Given the description of an element on the screen output the (x, y) to click on. 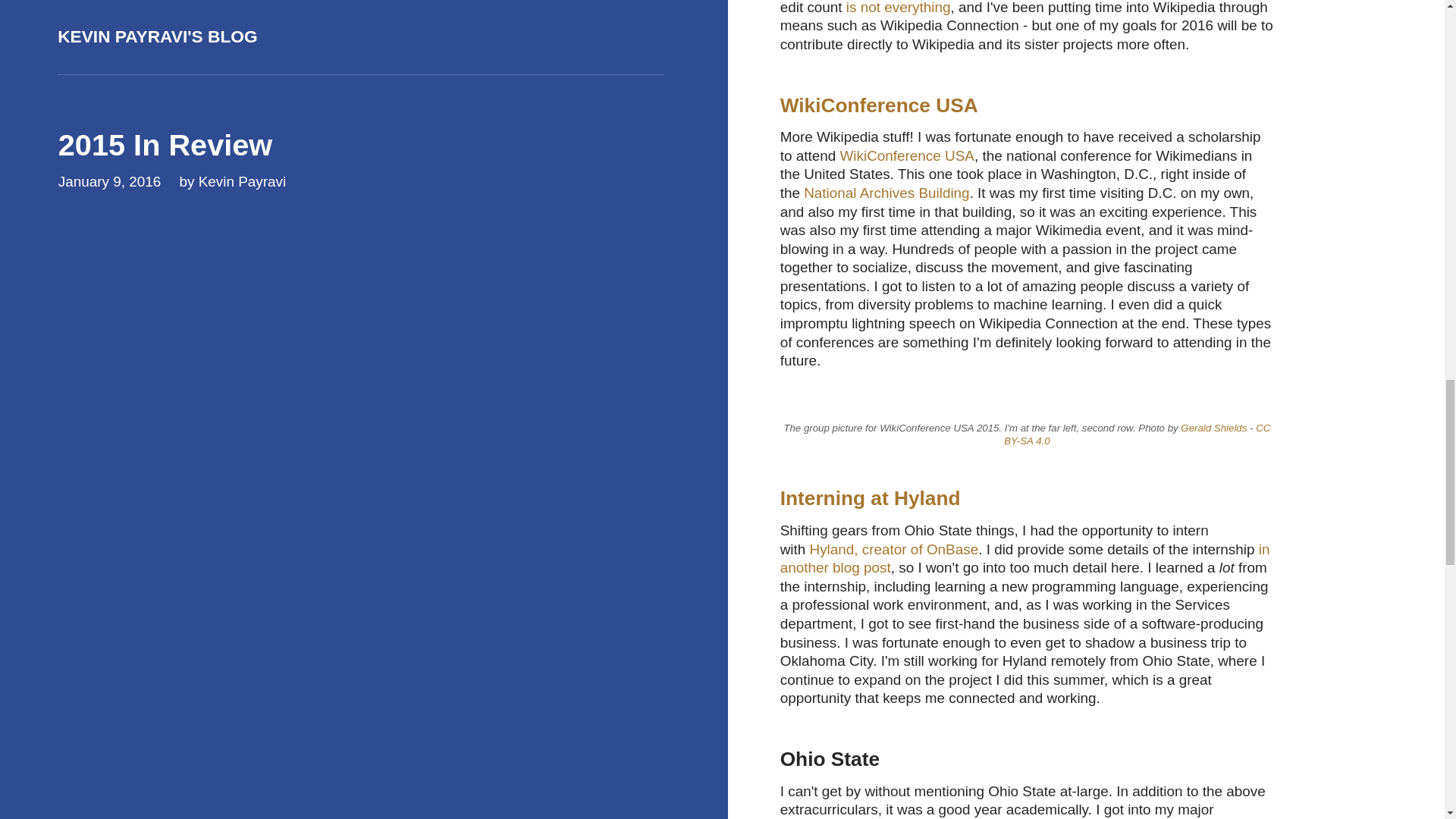
in another blog post (1024, 558)
is not everything (897, 7)
WikiConference USA (879, 105)
Interning at Hyland (870, 497)
WikiConference USA (907, 155)
National Archives Building (886, 192)
Hyland, creator of OnBase (893, 549)
CC BY-SA 4.0 (1136, 434)
Gerald Shields (1213, 428)
